Given the description of an element on the screen output the (x, y) to click on. 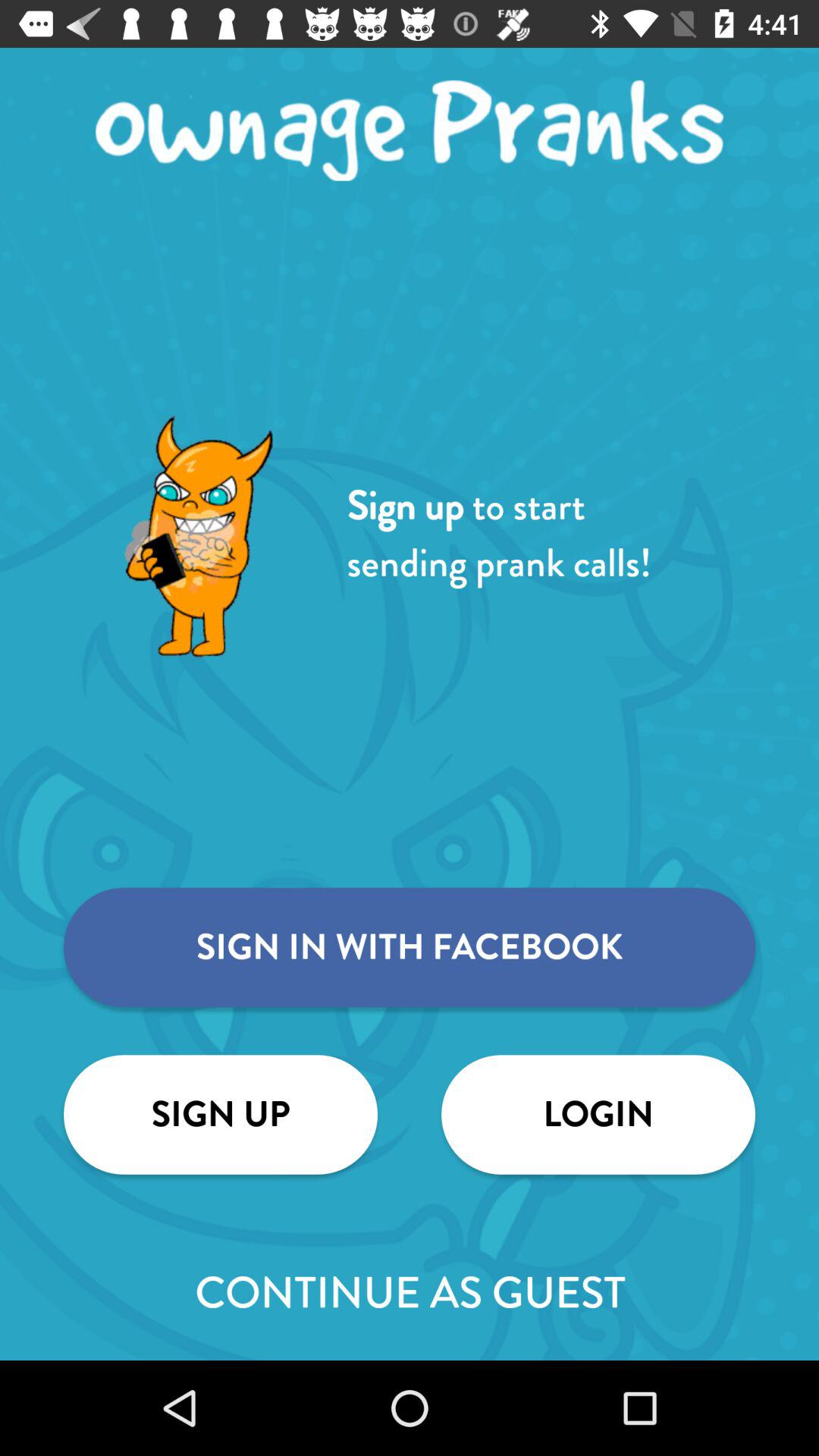
press the continue as guest item (410, 1293)
